Given the description of an element on the screen output the (x, y) to click on. 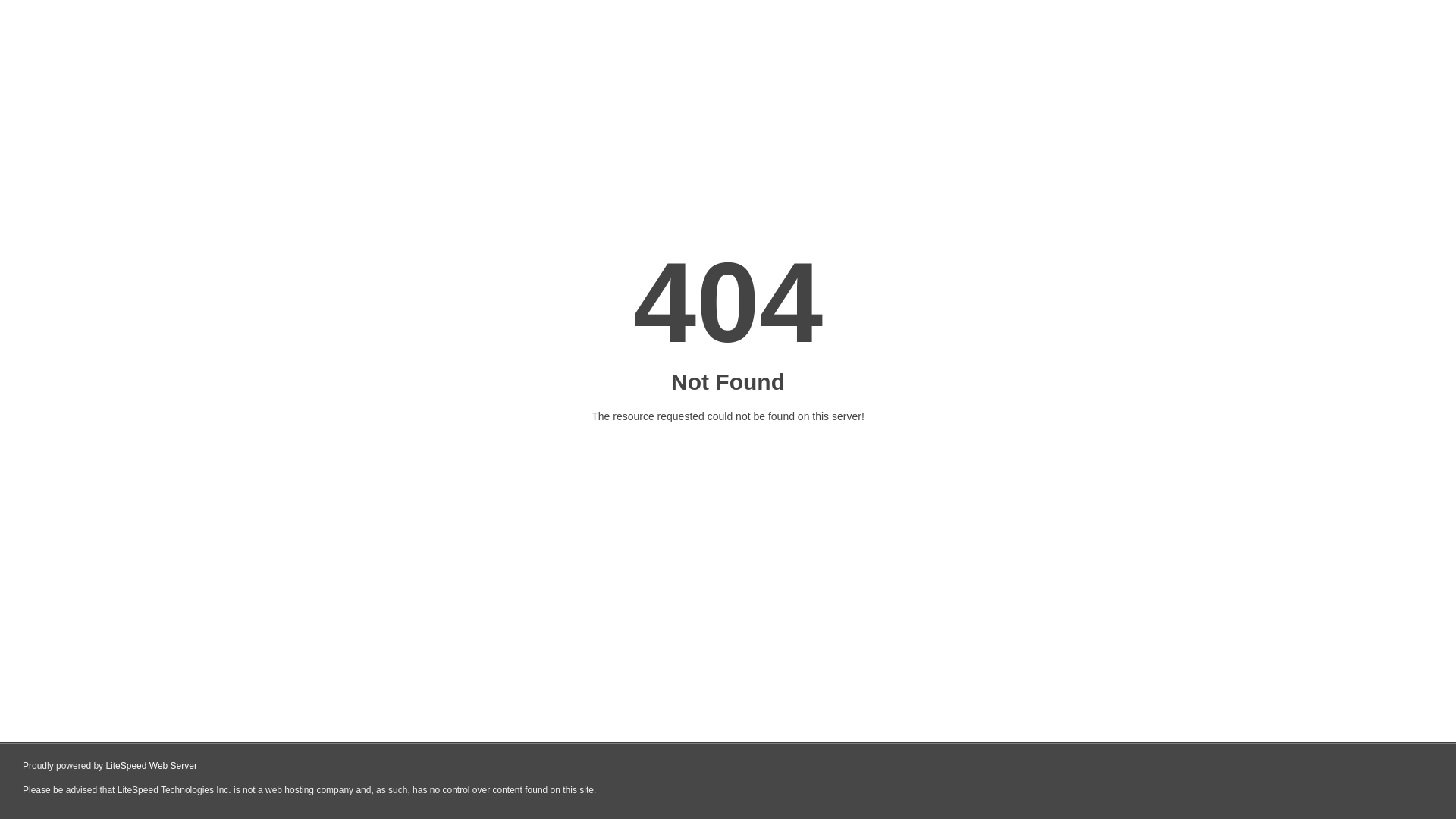
LiteSpeed Web Server Element type: text (151, 765)
